Given the description of an element on the screen output the (x, y) to click on. 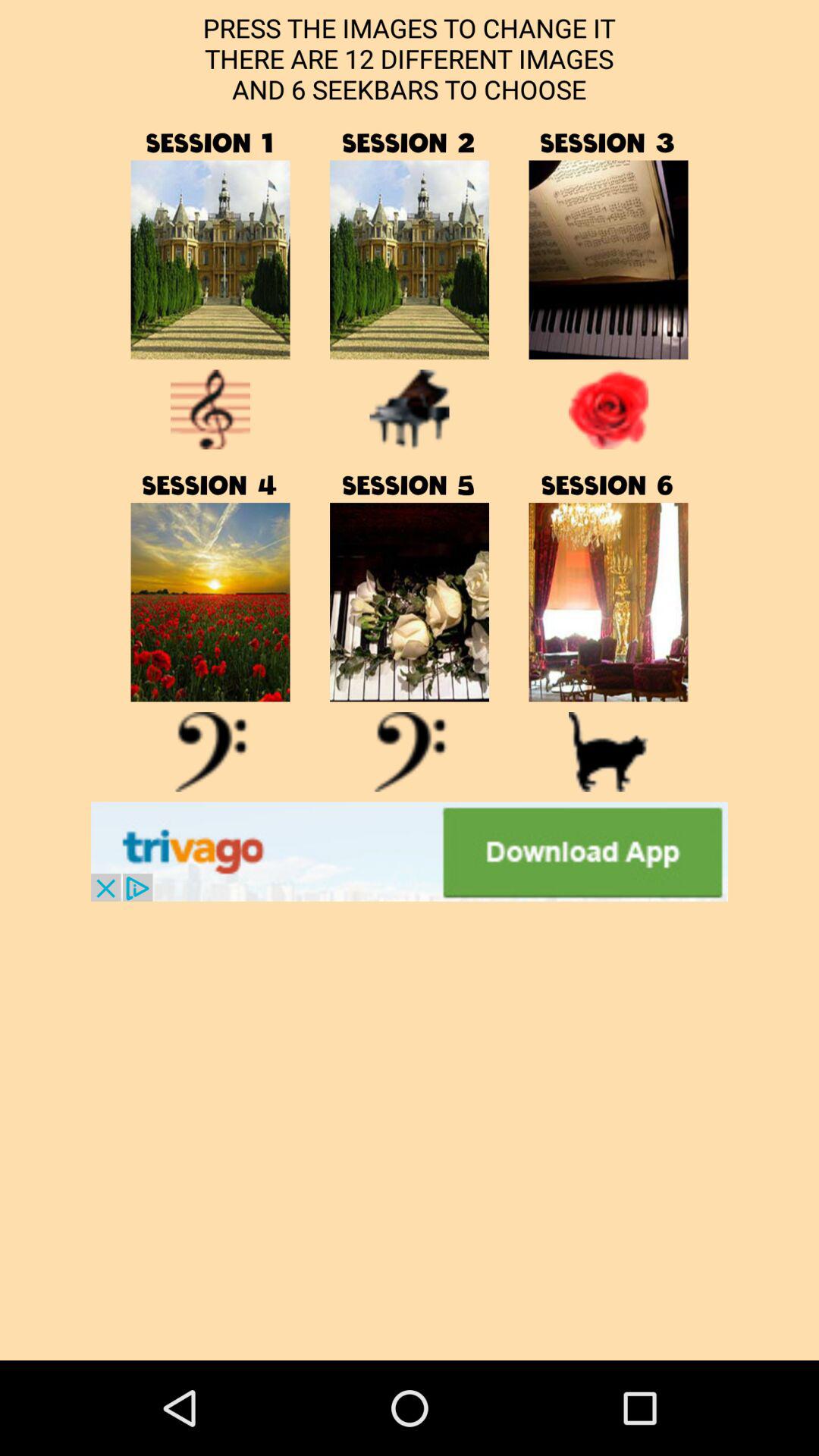
open (409, 259)
